Given the description of an element on the screen output the (x, y) to click on. 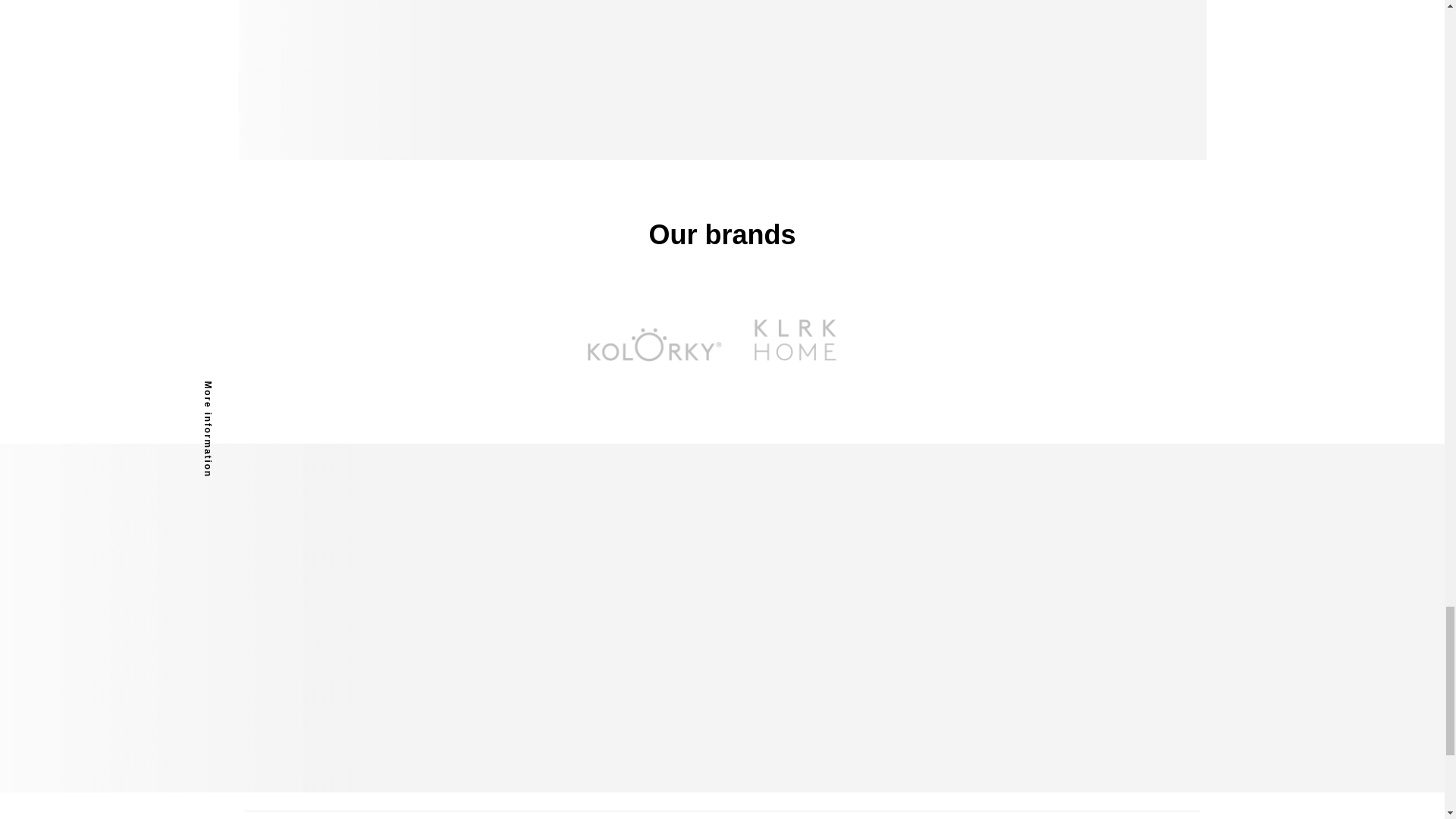
KLRK HOME (794, 346)
Kolorky (649, 346)
